Given the description of an element on the screen output the (x, y) to click on. 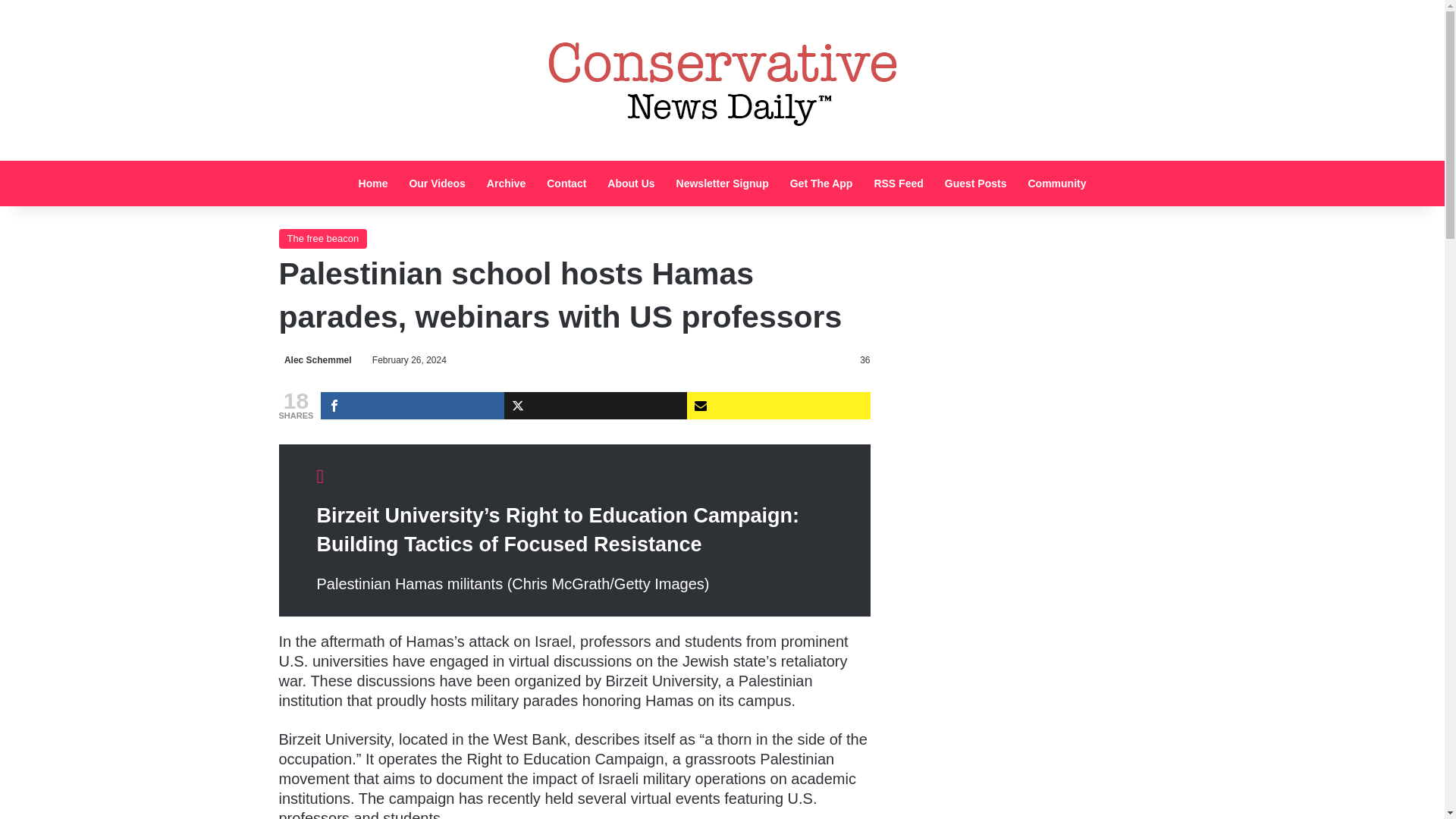
Alec Schemmel (315, 359)
Home (372, 183)
Twitter (595, 405)
The free beacon (323, 238)
RSS Feed (898, 183)
Subscribe (778, 405)
Facebook (411, 405)
Guest Posts (975, 183)
Newsletter Signup (721, 183)
Contact (565, 183)
Archive (505, 183)
Community (1056, 183)
About Us (630, 183)
Alec Schemmel (315, 359)
Get The App (820, 183)
